Given the description of an element on the screen output the (x, y) to click on. 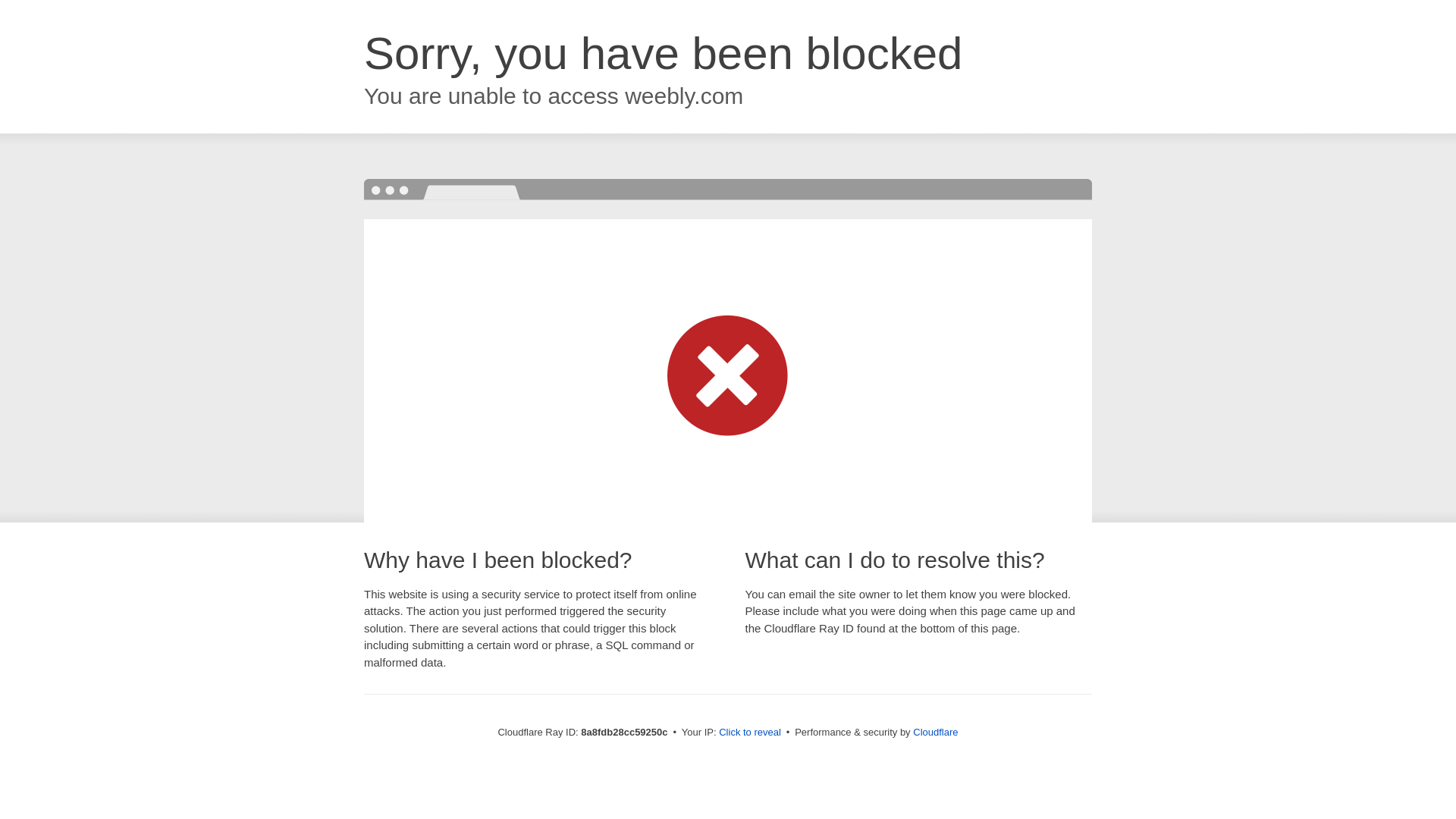
Cloudflare (935, 731)
Click to reveal (749, 732)
